Given the description of an element on the screen output the (x, y) to click on. 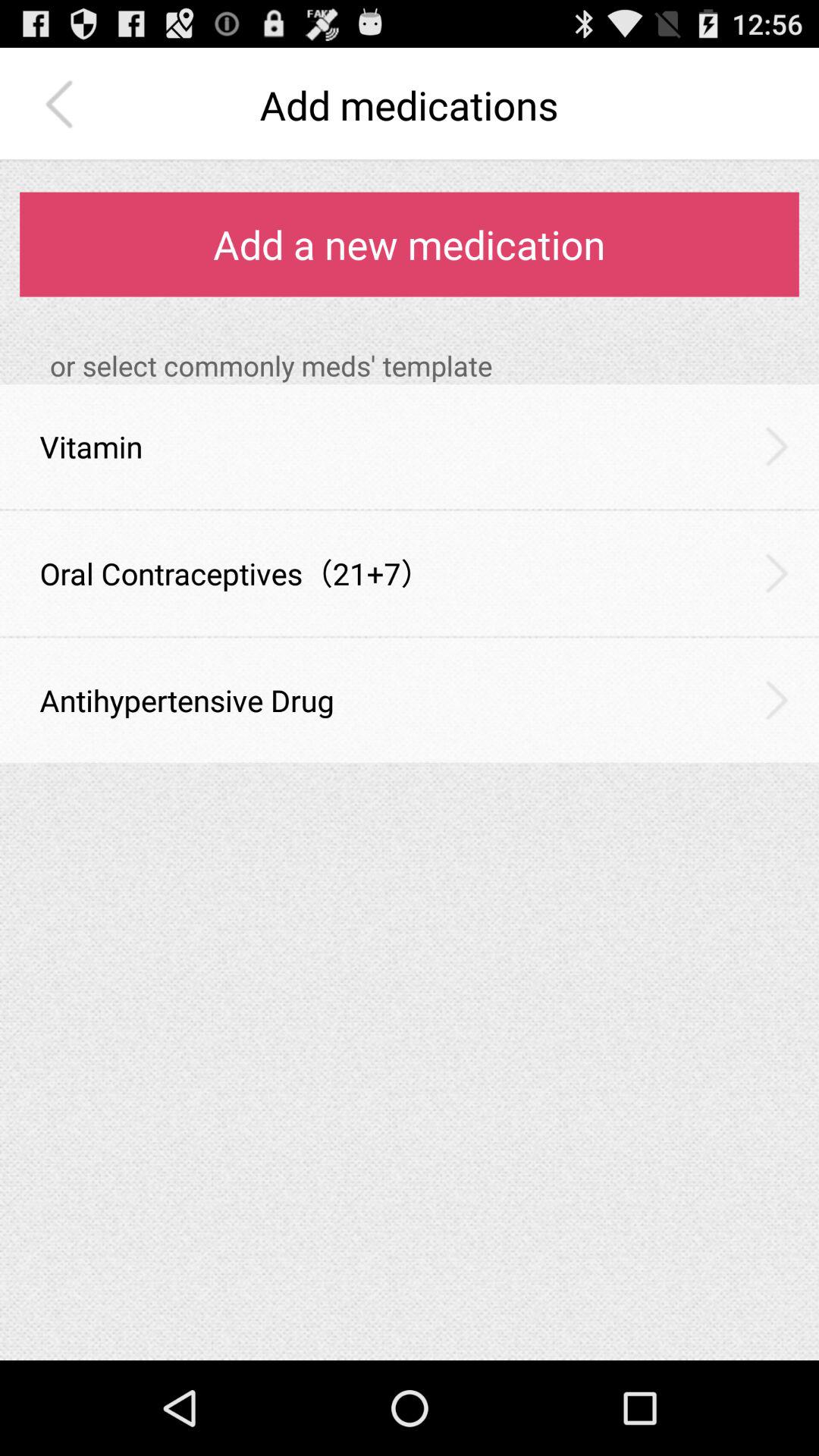
turn on the vitamin item (90, 446)
